Given the description of an element on the screen output the (x, y) to click on. 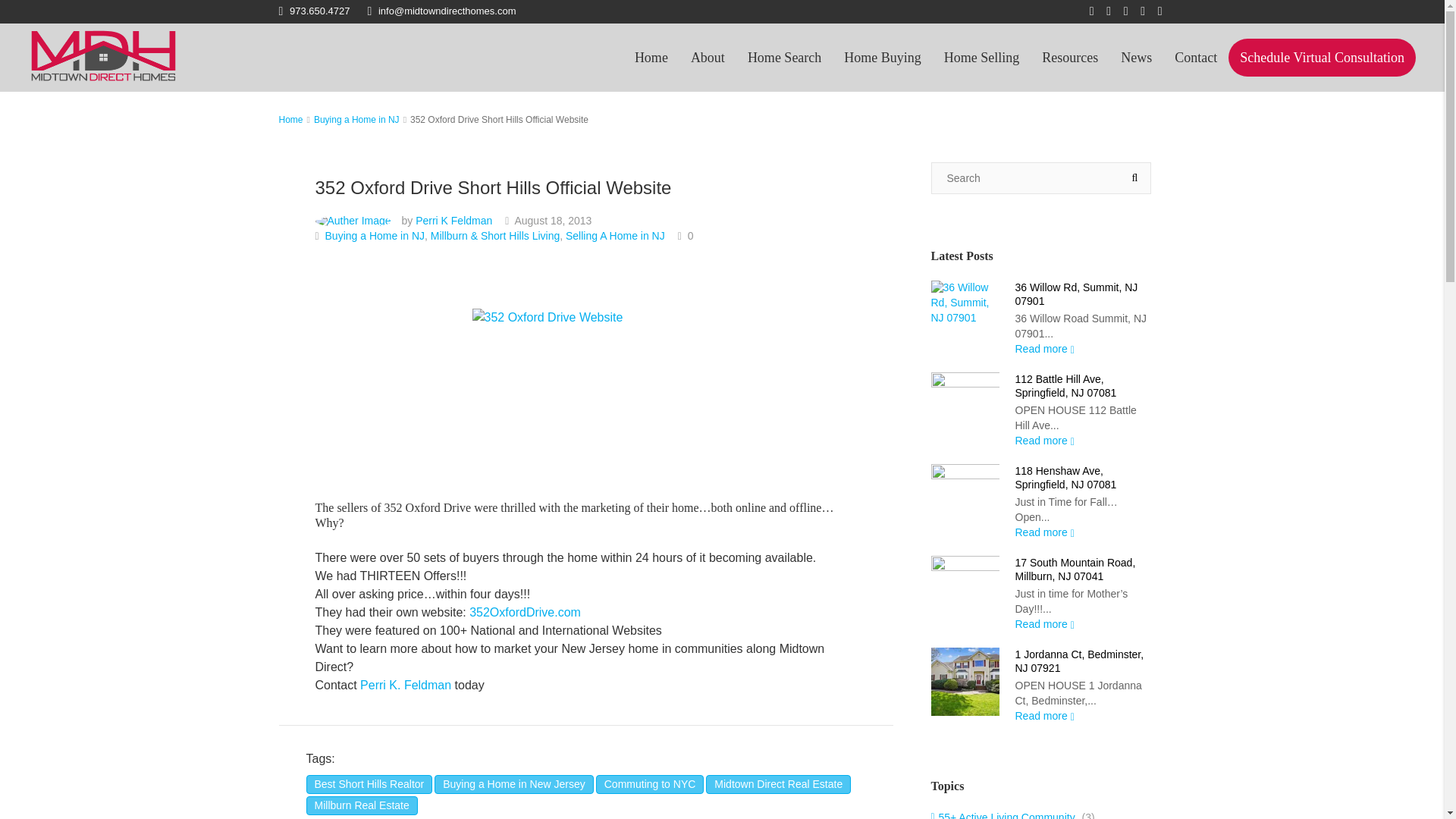
973.650.4727 (314, 10)
Home Selling (981, 57)
Buying a Home in NJ (356, 119)
Contact (1195, 57)
Home Search (784, 57)
Email Perri K Feldman (406, 684)
Buying a Home in NJ (374, 235)
Home (290, 119)
Home Buying (882, 57)
Resources (1069, 57)
